Given the description of an element on the screen output the (x, y) to click on. 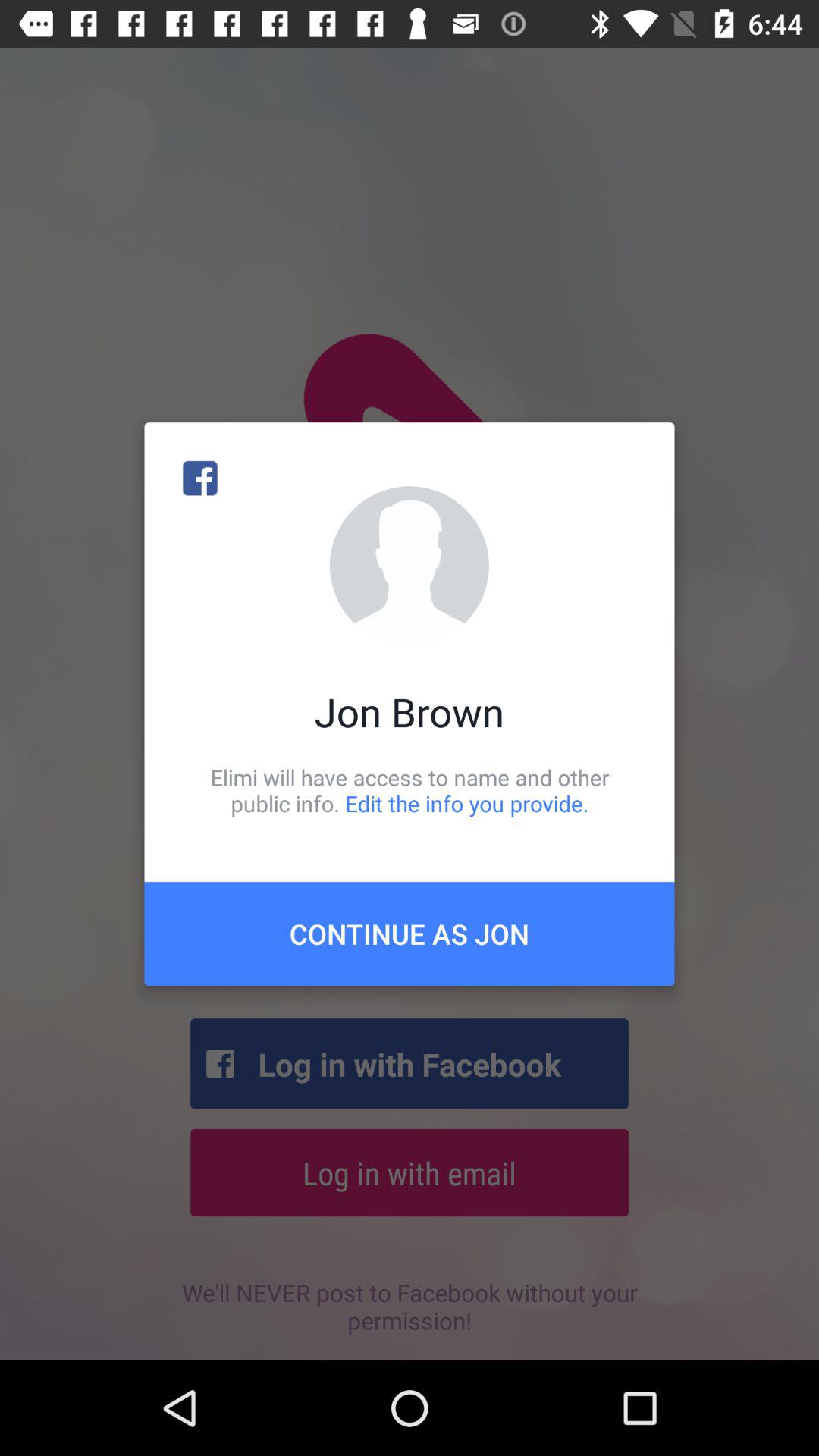
open the item above continue as jon (409, 790)
